Given the description of an element on the screen output the (x, y) to click on. 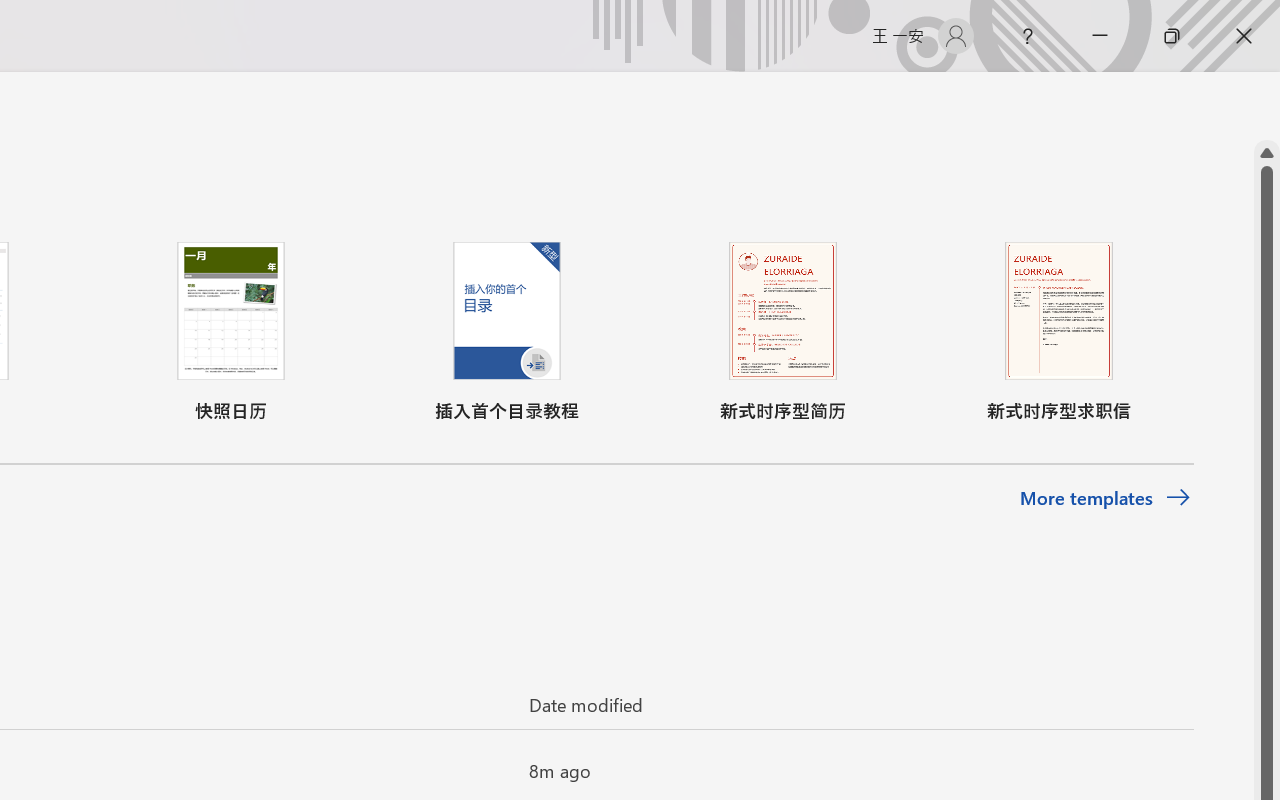
Help (1027, 36)
Line up (1267, 153)
Restore Down (1172, 36)
Class: NetUIScrollBar (1267, 106)
Pin this item to the list (480, 770)
Minimize (1099, 36)
Close (1244, 36)
More templates (1105, 498)
